Given the description of an element on the screen output the (x, y) to click on. 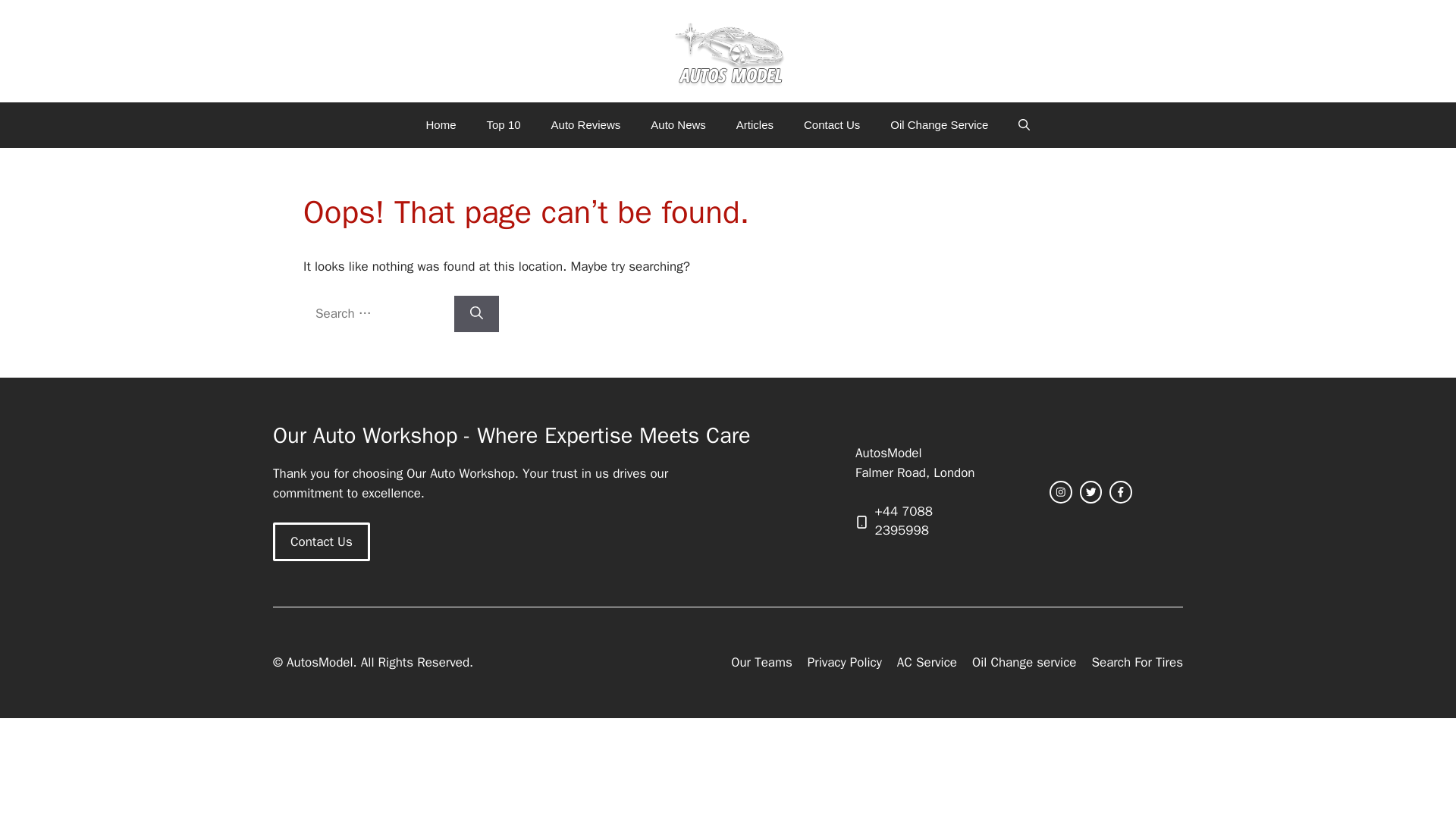
Privacy Policy (845, 662)
Oil Change service (1024, 662)
Search For Tires (1136, 662)
Articles (754, 125)
Search for: (375, 313)
Our Teams (761, 662)
Contact Us (832, 125)
Top 10 (503, 125)
Auto Reviews (585, 125)
Oil Change Service (939, 125)
Contact Us (321, 541)
Home (440, 125)
Auto News (677, 125)
AC Service (926, 662)
